Given the description of an element on the screen output the (x, y) to click on. 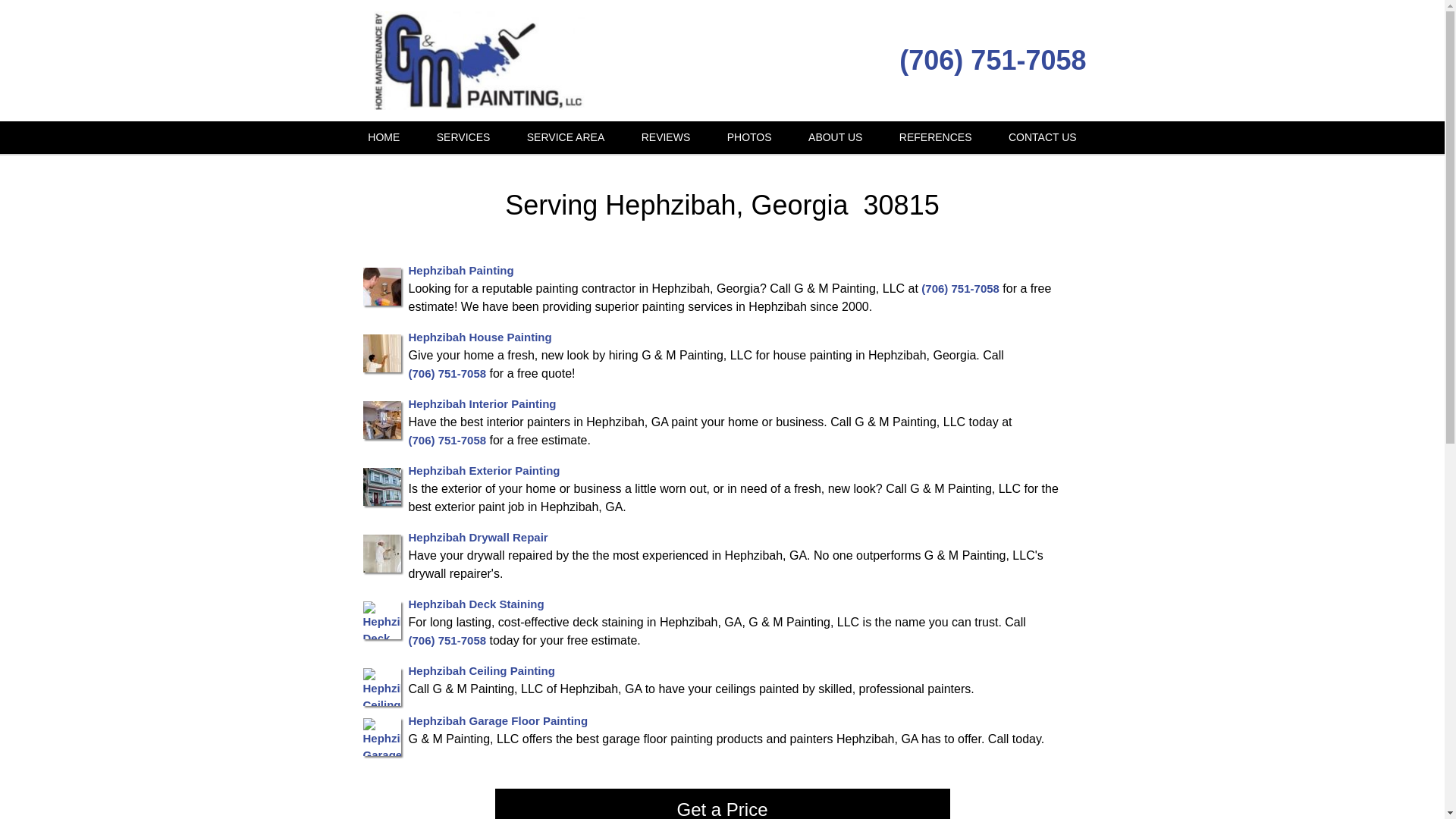
Hephzibah Deck Staining (475, 603)
Hephzibah Painting (460, 269)
ABOUT US (835, 137)
Hephzibah Exterior Painting (483, 470)
SERVICE AREA (566, 137)
Hephzibah Interior Painting (481, 403)
PHOTOS (749, 137)
REVIEWS (665, 137)
Hephzibah Garage Floor Painting (497, 720)
REFERENCES (935, 137)
